Given the description of an element on the screen output the (x, y) to click on. 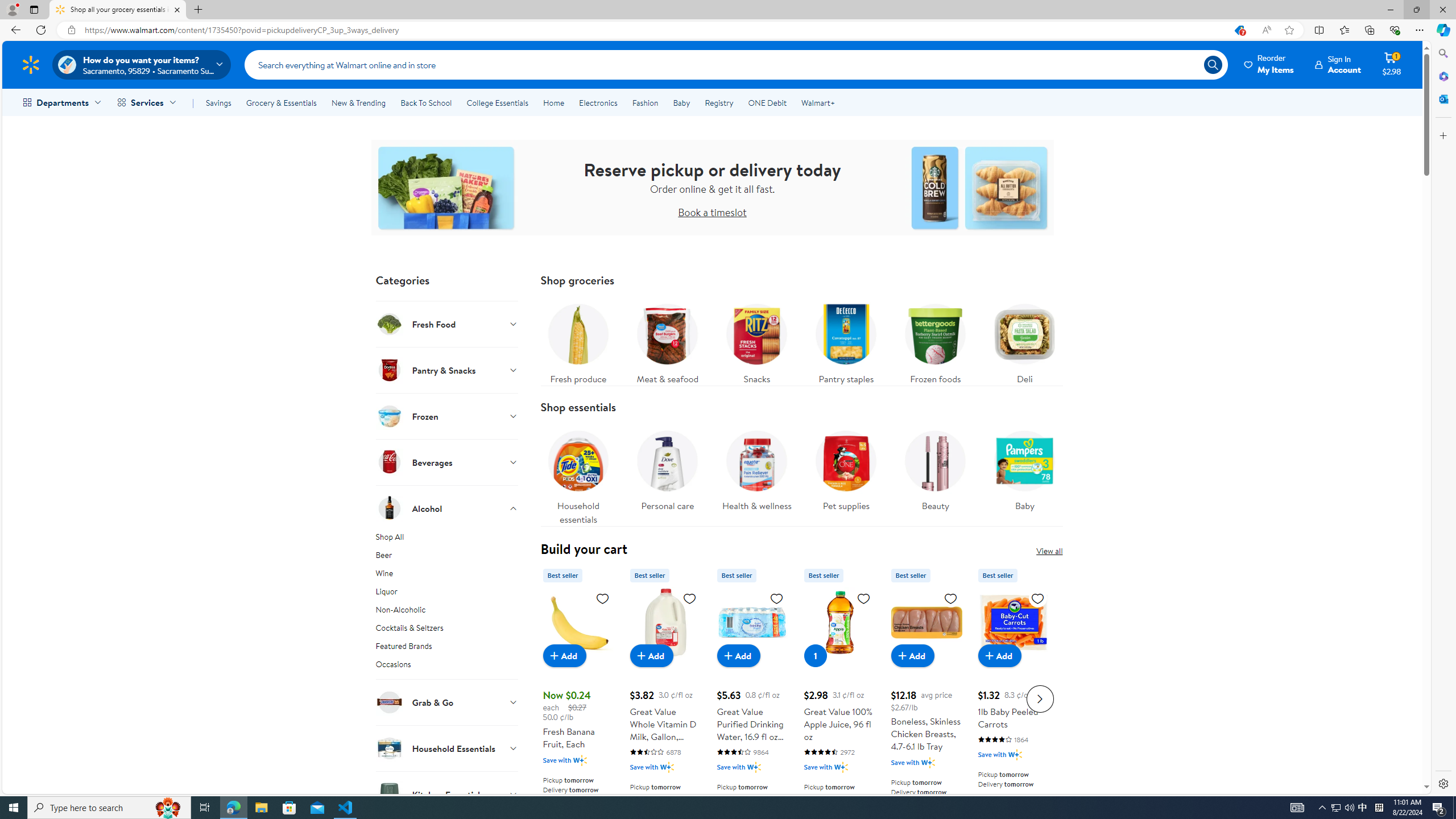
Kitchen Essentials (446, 794)
This site has coupons! Shopping in Microsoft Edge, 7 (1239, 29)
Search icon (1212, 64)
Collections (1369, 29)
ReorderMy Items (1269, 64)
Favorites (1344, 29)
ONE Debit (767, 102)
Great Value 100% Apple Juice, 96 fl oz (839, 621)
Grocery & Essentials (280, 102)
Grab & Go (446, 701)
View all (1049, 550)
Snacks (756, 340)
Fresh produce (577, 340)
